Given the description of an element on the screen output the (x, y) to click on. 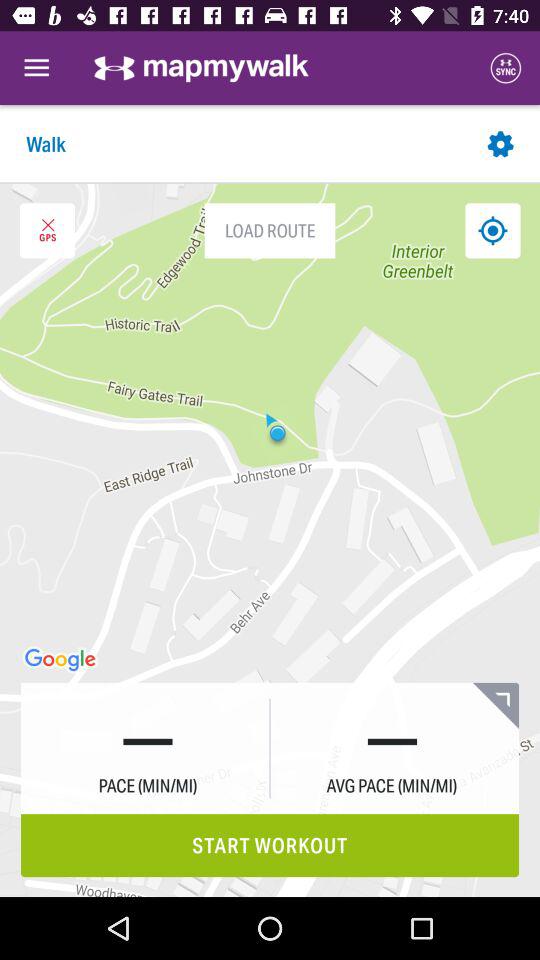
go to location (492, 230)
